Given the description of an element on the screen output the (x, y) to click on. 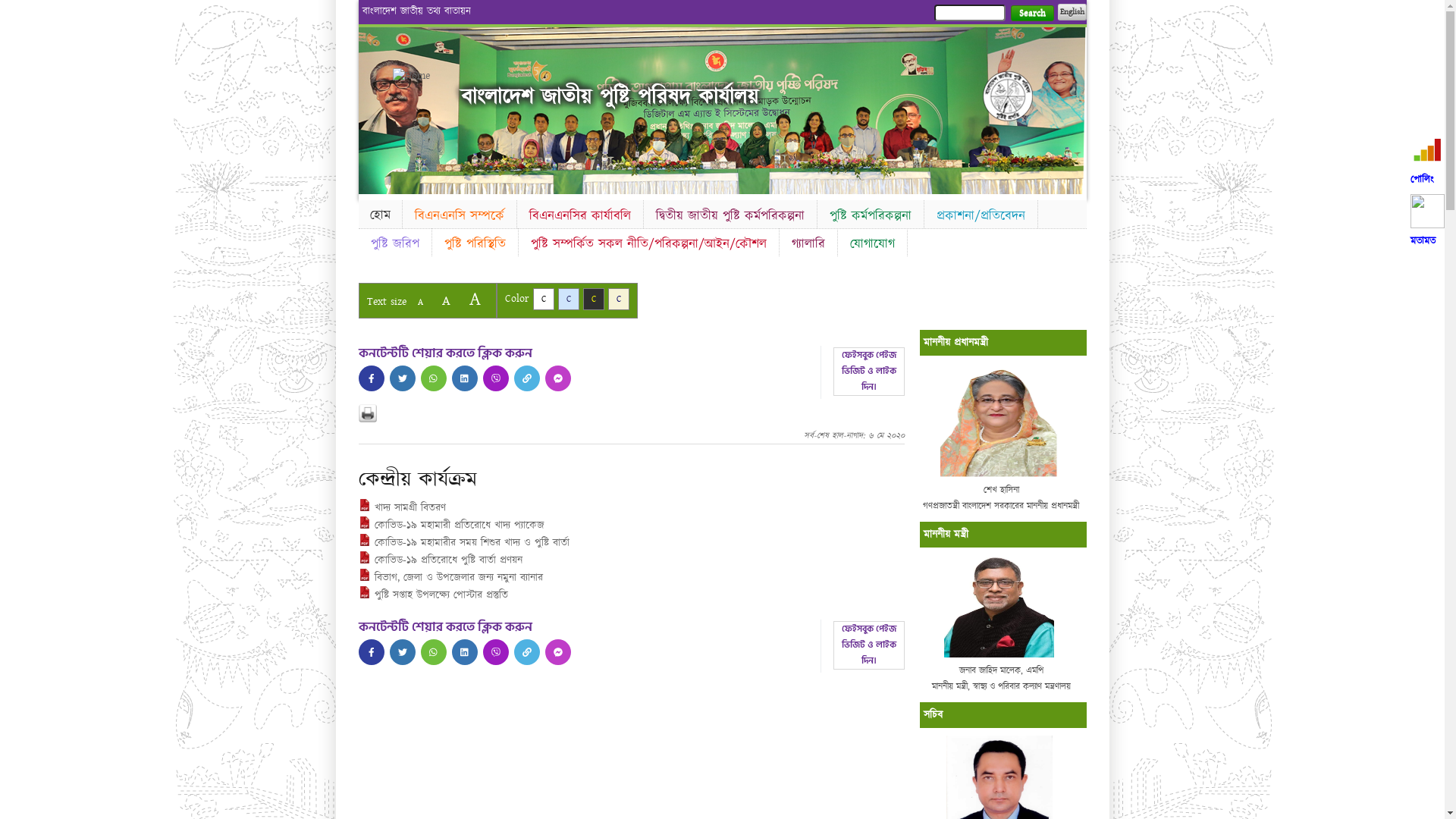
A Element type: text (474, 298)
C Element type: text (618, 299)
English Element type: text (1071, 11)
A Element type: text (419, 301)
C Element type: text (568, 299)
Home Element type: hover (418, 76)
A Element type: text (445, 300)
C Element type: text (542, 299)
Search Element type: text (1031, 13)
C Element type: text (592, 299)
